Given the description of an element on the screen output the (x, y) to click on. 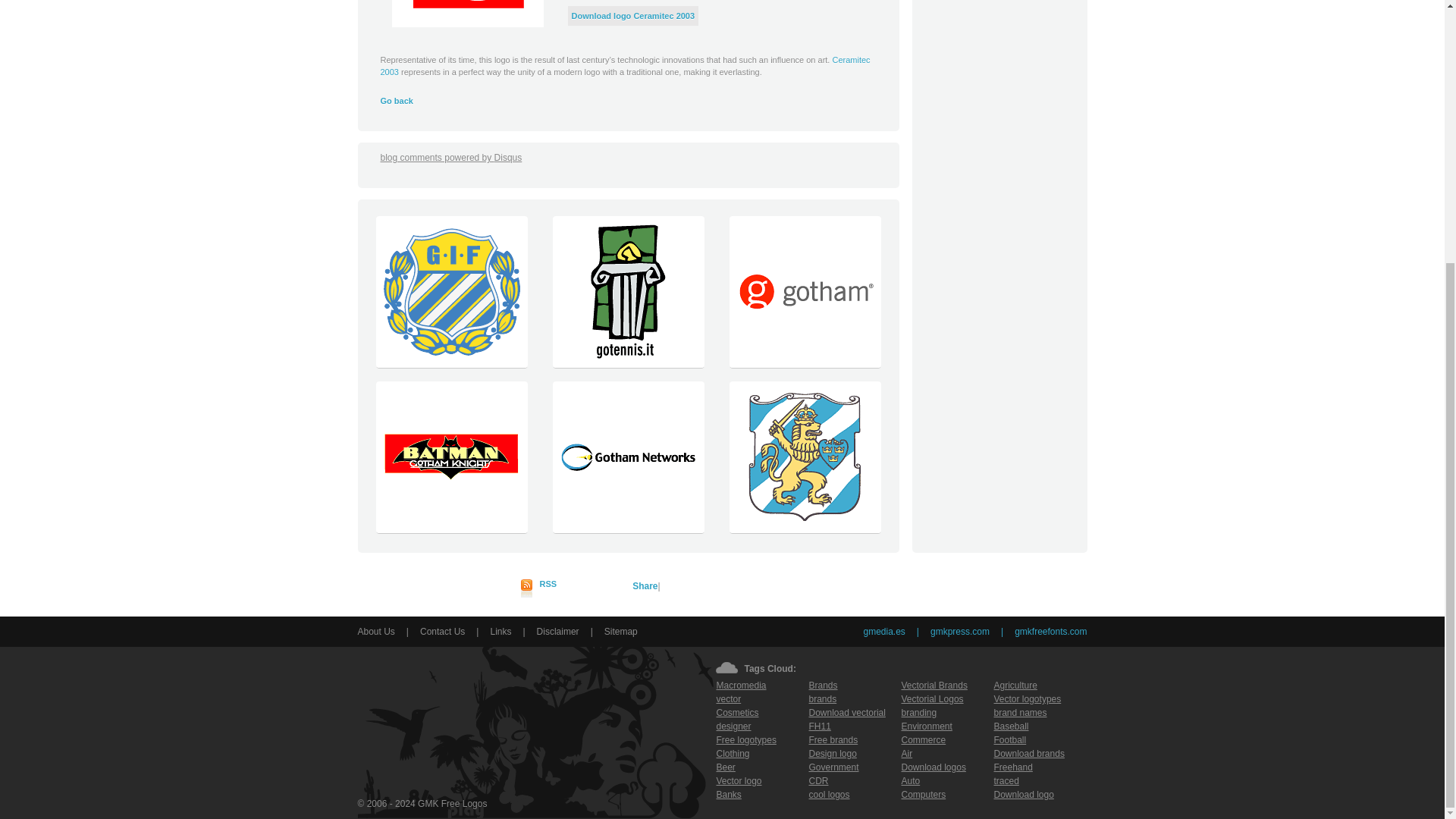
Ceramitec 2003 (625, 65)
Download Logo gotennis.it (627, 364)
Download Ceramitec 2003 (467, 13)
Download Logo Gotham Networks (627, 529)
Go back (396, 100)
Download Logo Gotene IF (450, 364)
Download Logo Gotham Knights (450, 529)
Download Logo Gothenburg Sweden (804, 529)
Download Ceramitec 2003 (633, 15)
Download Logo Gotham (804, 364)
